Given the description of an element on the screen output the (x, y) to click on. 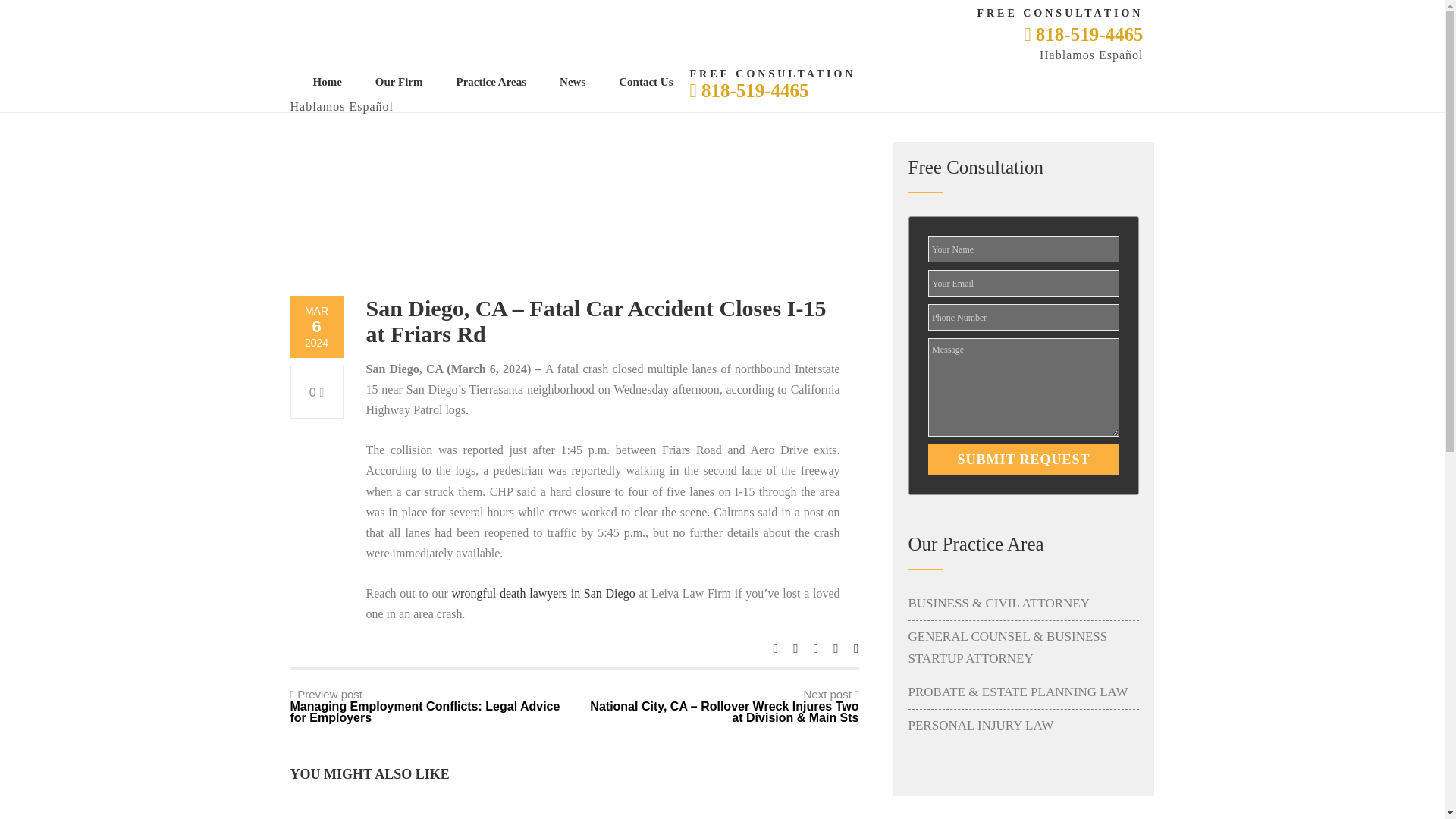
Our Firm (398, 81)
Home (326, 81)
0 (316, 391)
Contact Us (645, 81)
SUBMIT REQUEST (1023, 459)
818-519-4465 (1082, 34)
Practice Areas (491, 81)
818-519-4465 (748, 90)
News (572, 81)
